Given the description of an element on the screen output the (x, y) to click on. 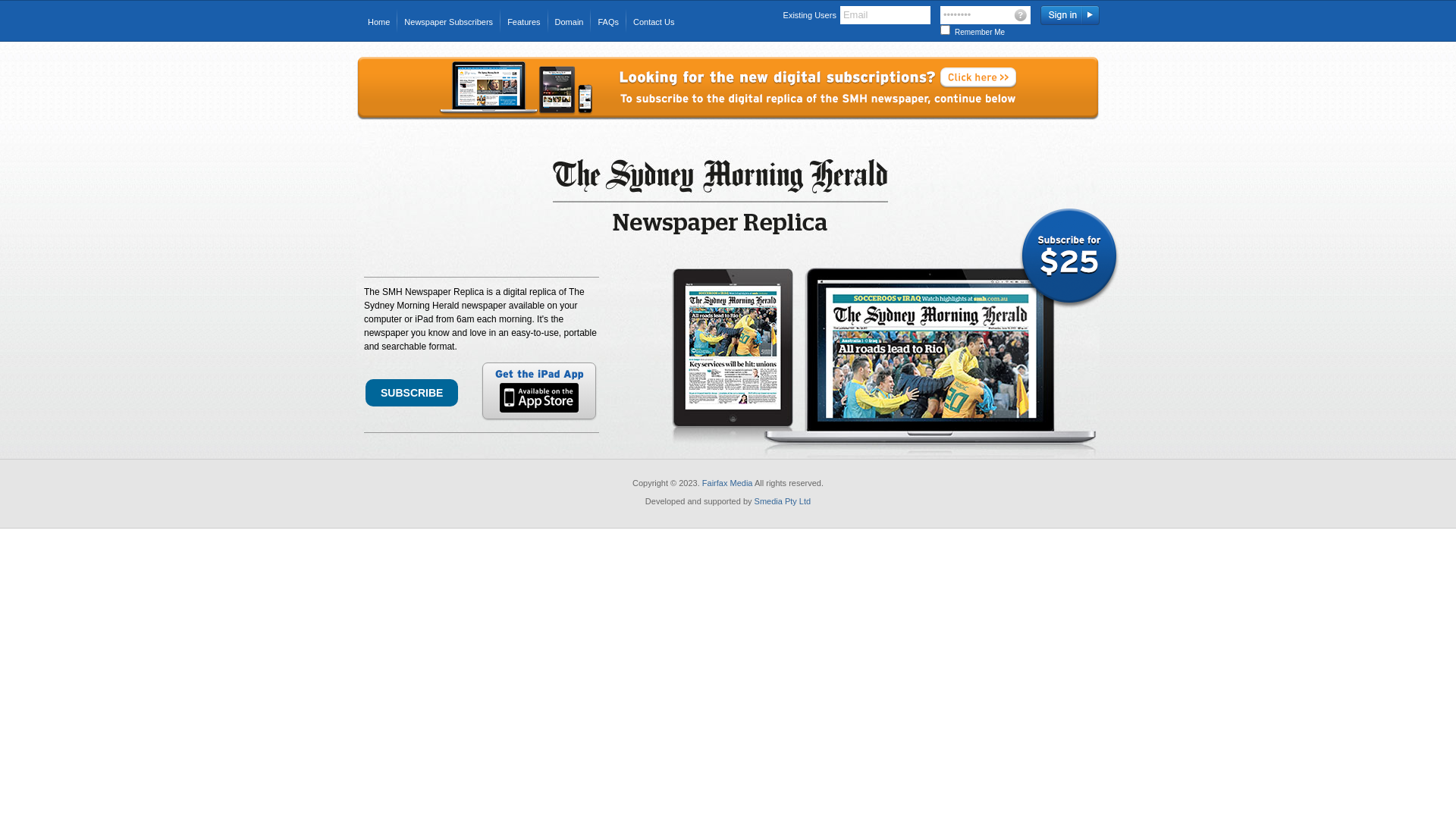
Newspaper Subscribers Element type: text (448, 21)
Get 
the 
iPad 
App Element type: text (539, 390)
Features Element type: text (523, 21)
FAQs Element type: text (607, 21)
Contact Us Element type: text (653, 21)
Smedia Pty Ltd Element type: text (782, 500)
Fairfax Media Element type: text (727, 482)
Domain Element type: text (569, 21)
Click here if you have forgotten your password Element type: hover (1022, 13)
Home Element type: text (378, 21)
SUBSCRIBE Element type: text (411, 392)
